Given the description of an element on the screen output the (x, y) to click on. 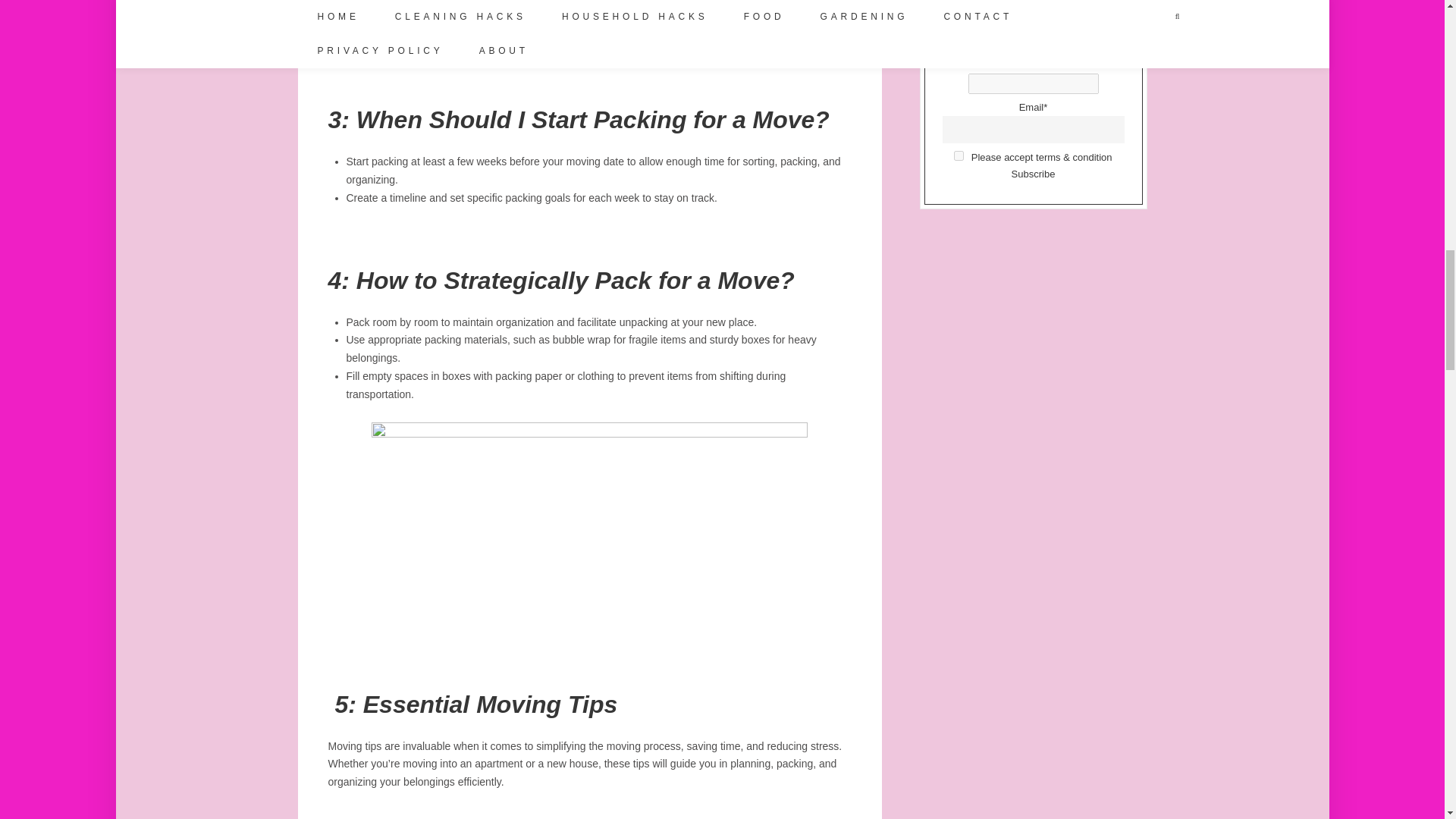
Subscribe (1033, 174)
true (958, 155)
Subscribe (1033, 174)
